Given the description of an element on the screen output the (x, y) to click on. 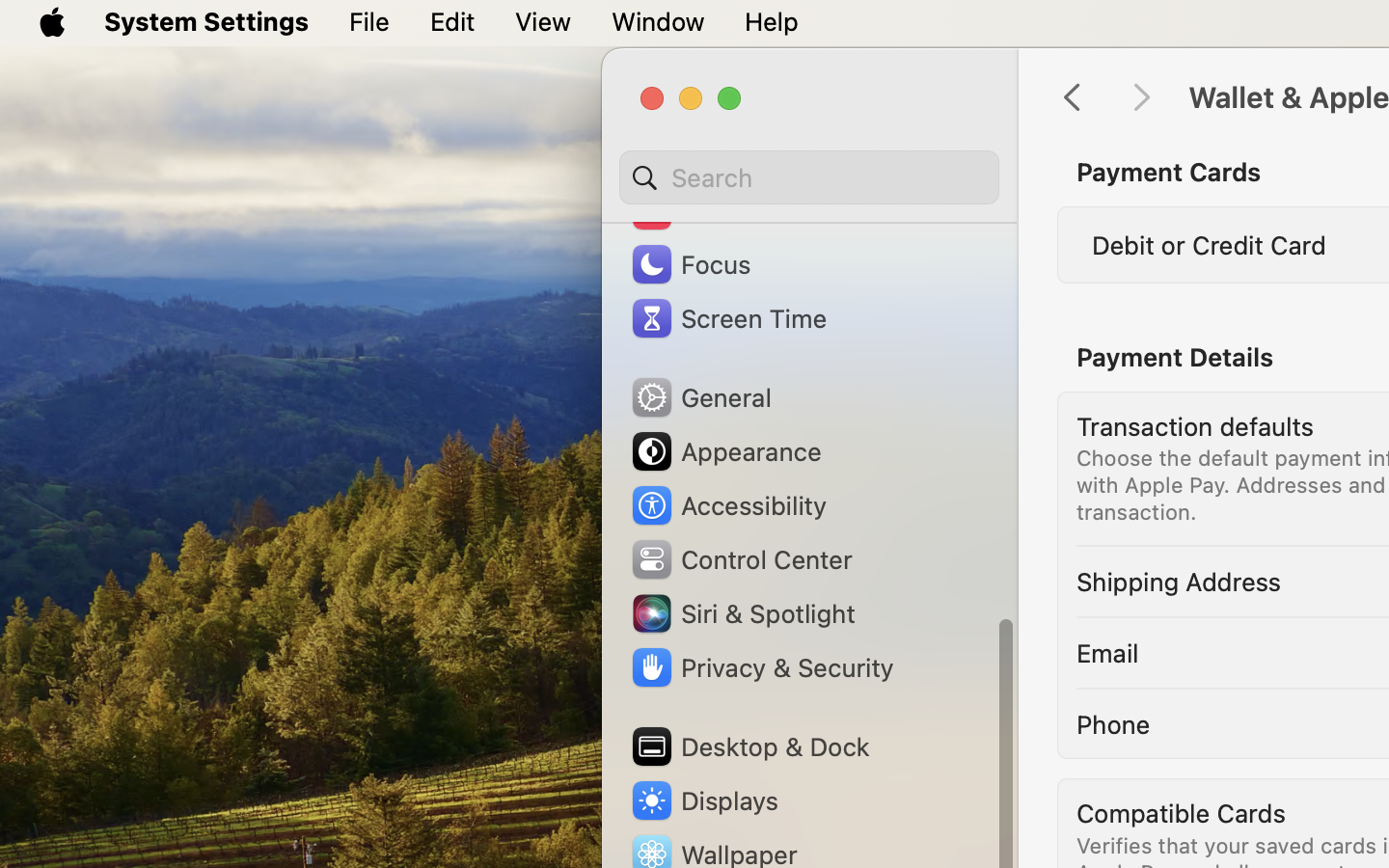
Siri & Spotlight Element type: AXStaticText (741, 613)
Desktop & Dock Element type: AXStaticText (749, 746)
Displays Element type: AXStaticText (703, 800)
Phone Element type: AXStaticText (1112, 722)
Control Center Element type: AXStaticText (740, 559)
